Given the description of an element on the screen output the (x, y) to click on. 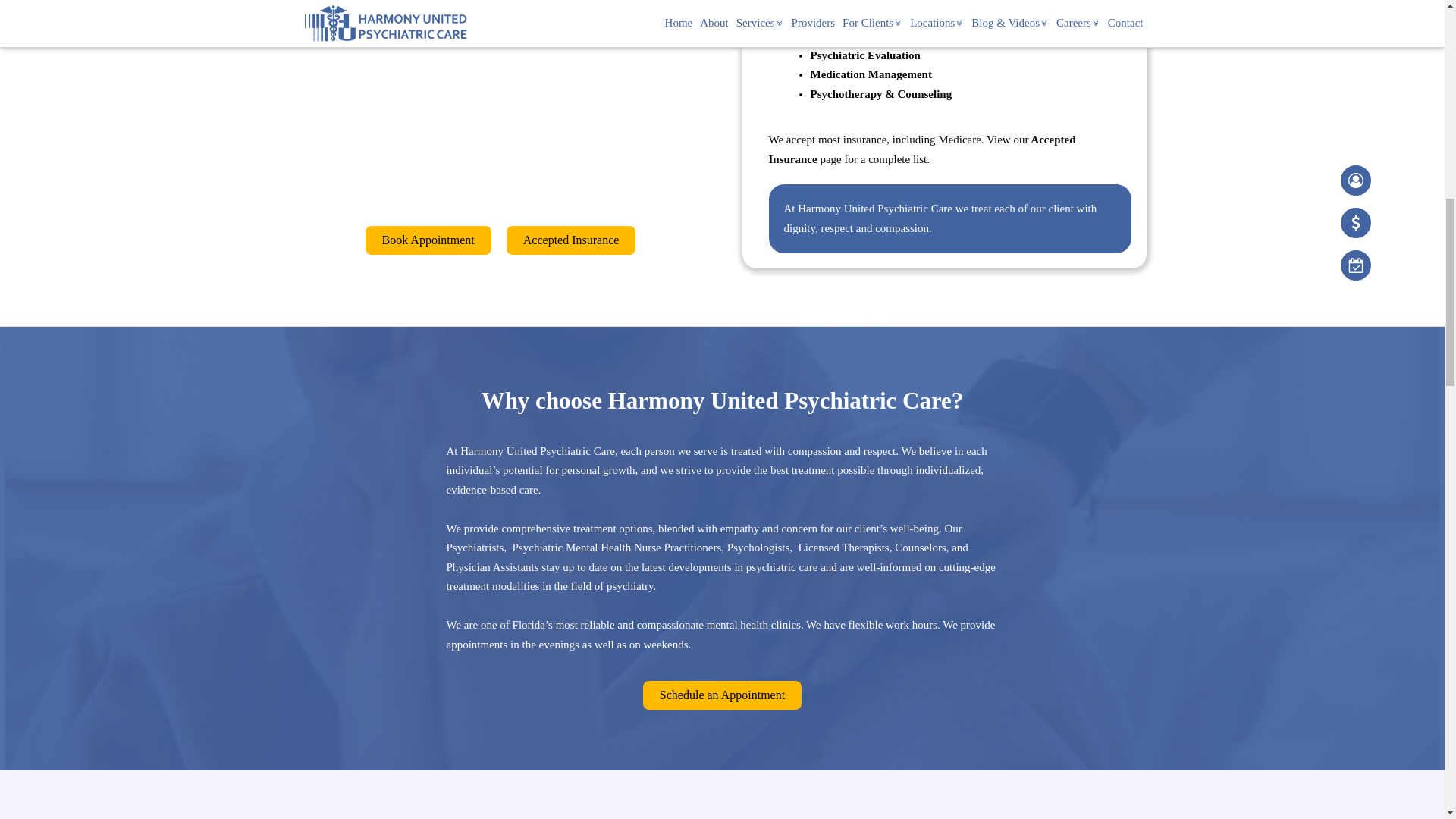
Accepted Insurance (571, 239)
Book Appointment (428, 239)
Book Appointment (722, 694)
